Given the description of an element on the screen output the (x, y) to click on. 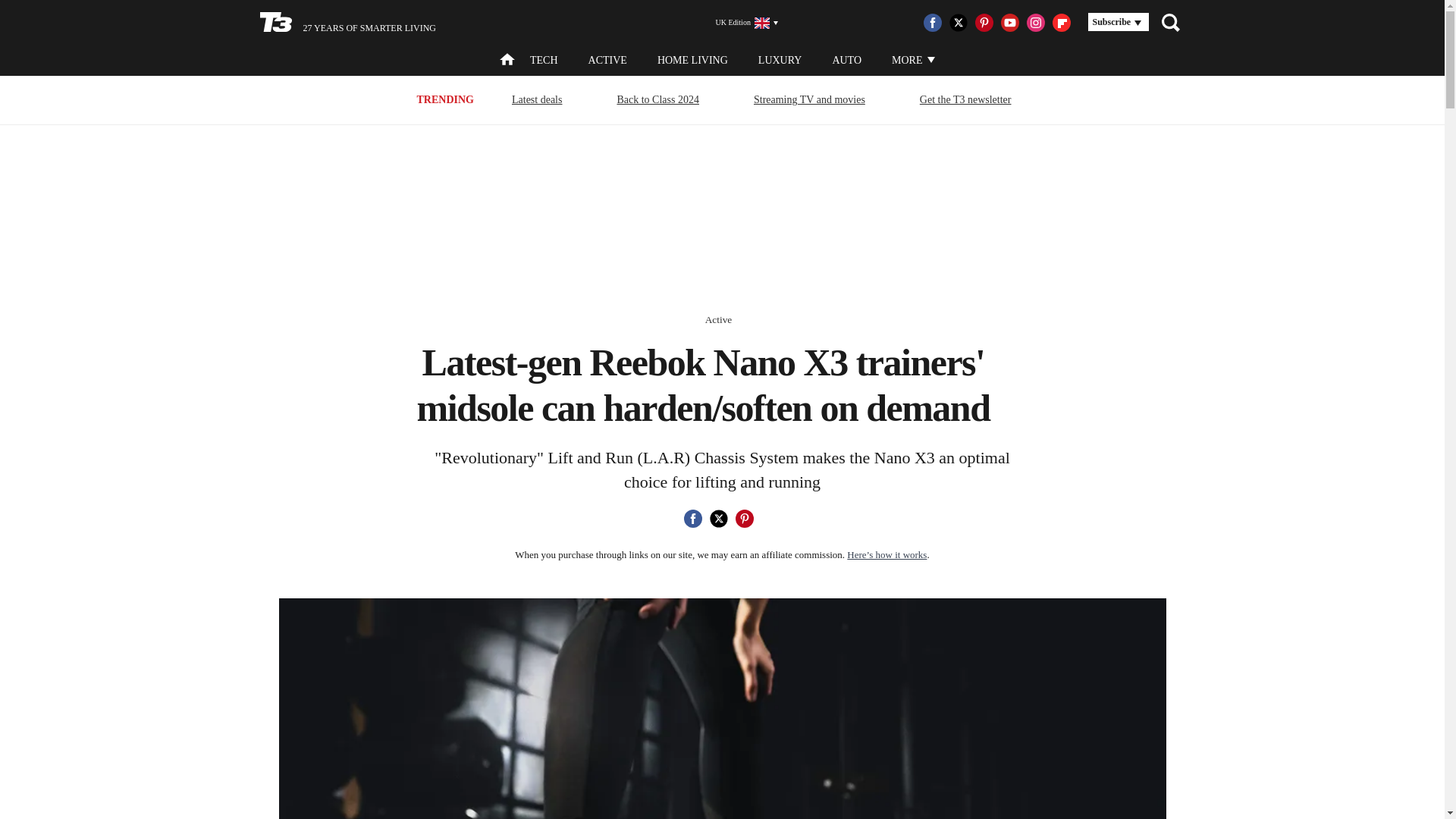
ACTIVE (607, 60)
Back to Class 2024 (657, 99)
TECH (543, 60)
Latest deals (536, 99)
Streaming TV and movies (809, 99)
UK Edition (740, 22)
27 YEARS OF SMARTER LIVING (347, 23)
LUXURY (780, 60)
AUTO (846, 60)
HOME LIVING (693, 60)
